Given the description of an element on the screen output the (x, y) to click on. 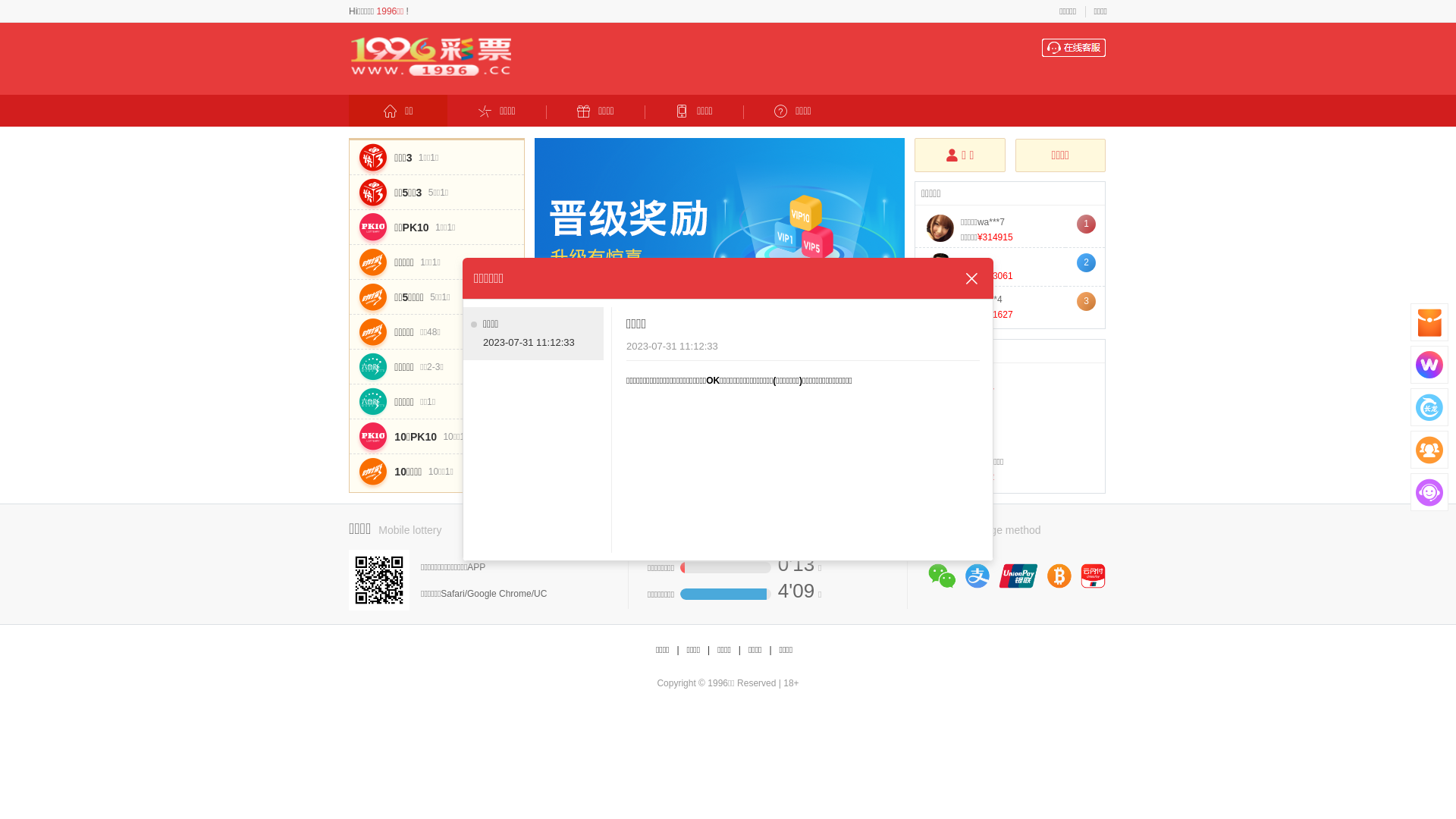
| Element type: text (708, 649)
| Element type: text (739, 649)
| Element type: text (677, 649)
| Element type: text (769, 649)
